Given the description of an element on the screen output the (x, y) to click on. 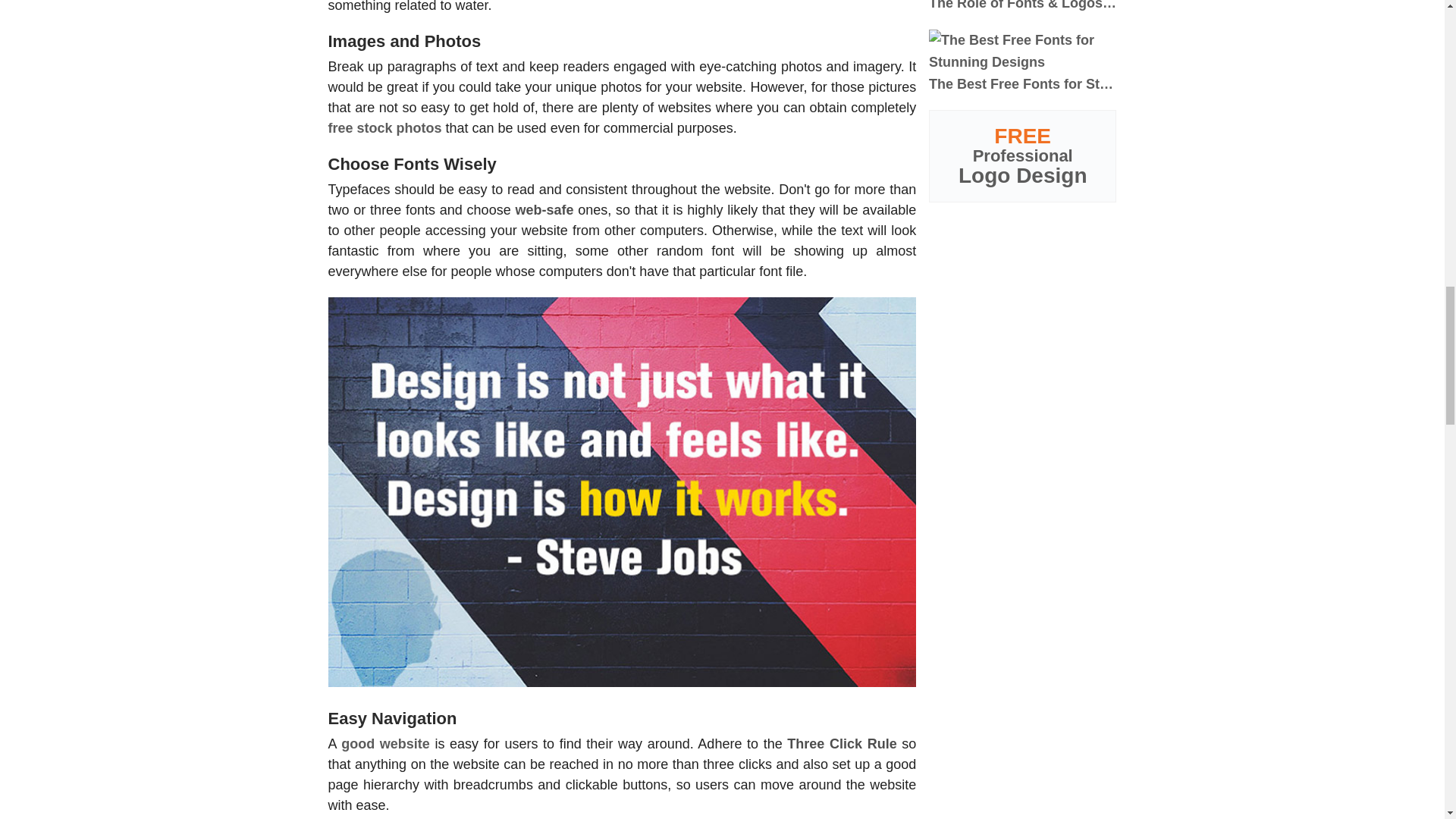
free stock photos (384, 127)
Good website design (384, 743)
good website (384, 743)
Free Image Websites  (384, 127)
